Given the description of an element on the screen output the (x, y) to click on. 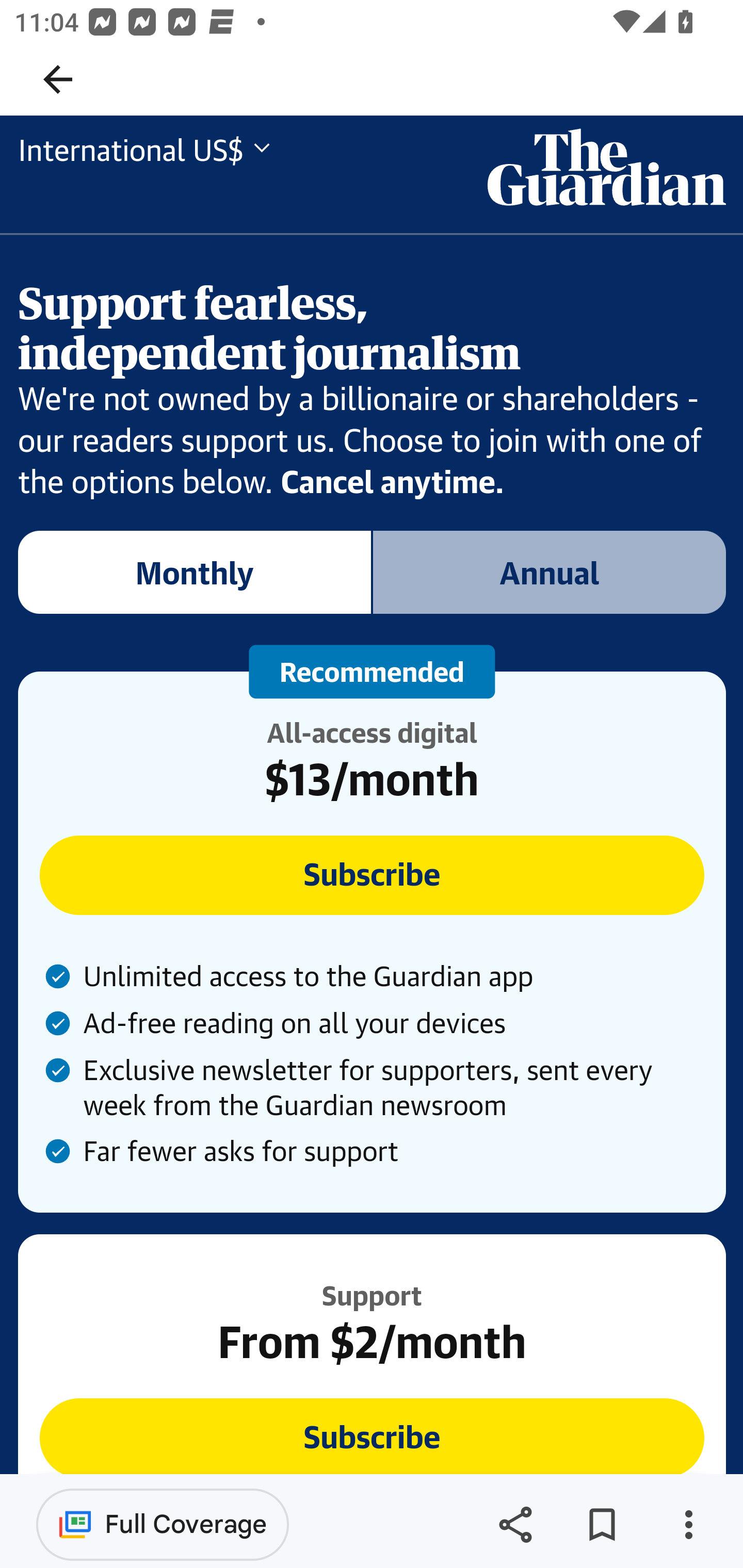
Navigate up (57, 79)
Select a country (131, 150)
Monthly (194, 571)
Annual (549, 571)
Subscribe (372, 874)
Subscribe (372, 1436)
Share (514, 1524)
Save for later (601, 1524)
More options (688, 1524)
Full Coverage (162, 1524)
